Given the description of an element on the screen output the (x, y) to click on. 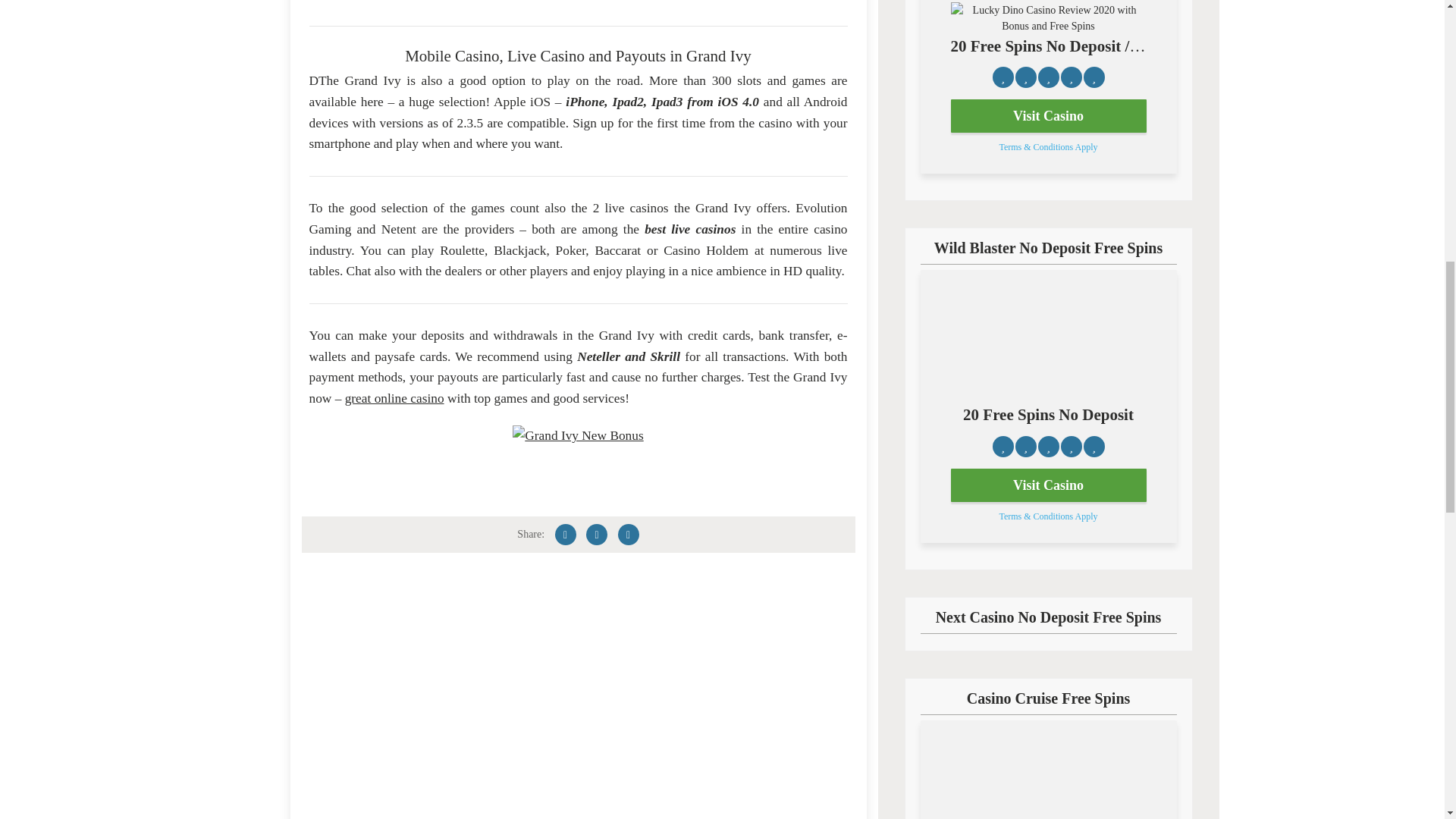
great online casino (394, 398)
Visit Casino (1048, 115)
Visit Casino (1048, 485)
Go to Grand Ivy (577, 435)
Join Grand Ivy here (578, 2)
